Given the description of an element on the screen output the (x, y) to click on. 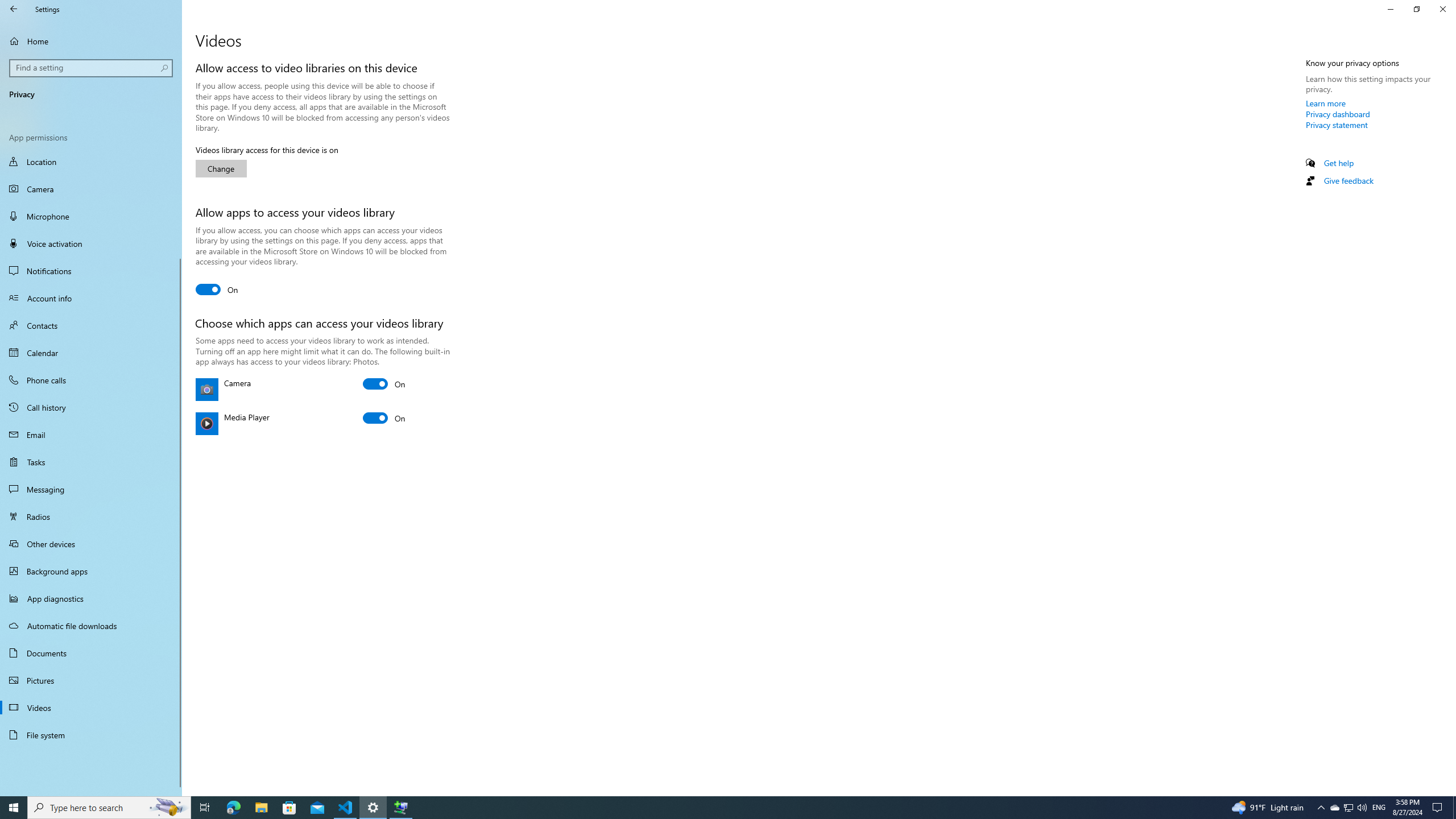
Account info (91, 298)
Contacts (91, 325)
Videos (91, 707)
Call history (91, 406)
Phone calls (91, 379)
Other devices (91, 543)
Microphone (91, 216)
Background apps (91, 570)
File system (91, 734)
